Given the description of an element on the screen output the (x, y) to click on. 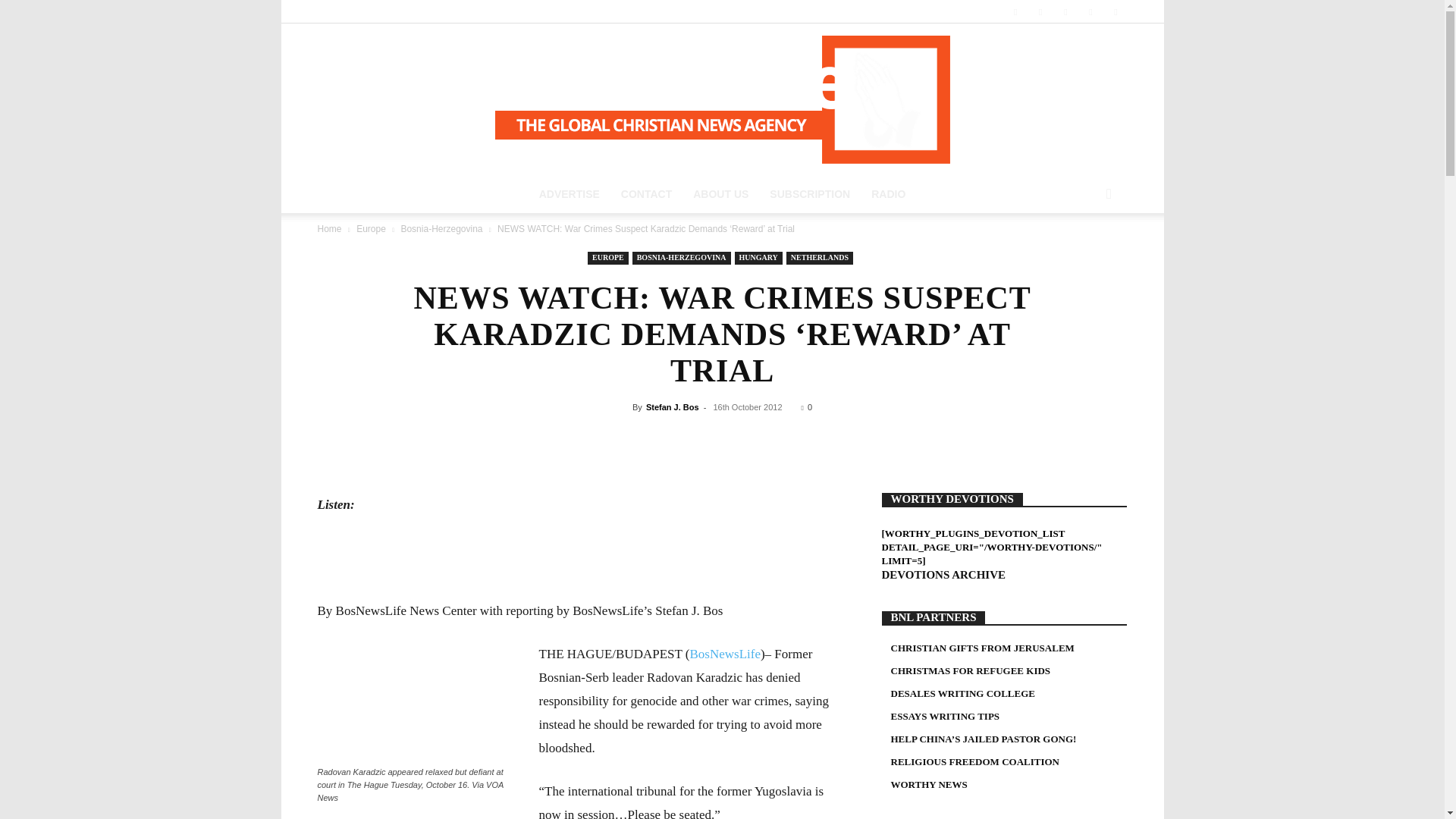
Home (328, 228)
HUNGARY (757, 257)
SUBSCRIPTION (809, 193)
BosNewsLife (722, 99)
Facebook (1015, 11)
Soundcloud (1065, 11)
EUROPE (608, 257)
RADIO (887, 193)
Search (1080, 255)
RSS (1040, 11)
BOSNIA-HERZEGOVINA (680, 257)
Youtube (1114, 11)
ABOUT US (720, 193)
ADVERTISE (569, 193)
